Given the description of an element on the screen output the (x, y) to click on. 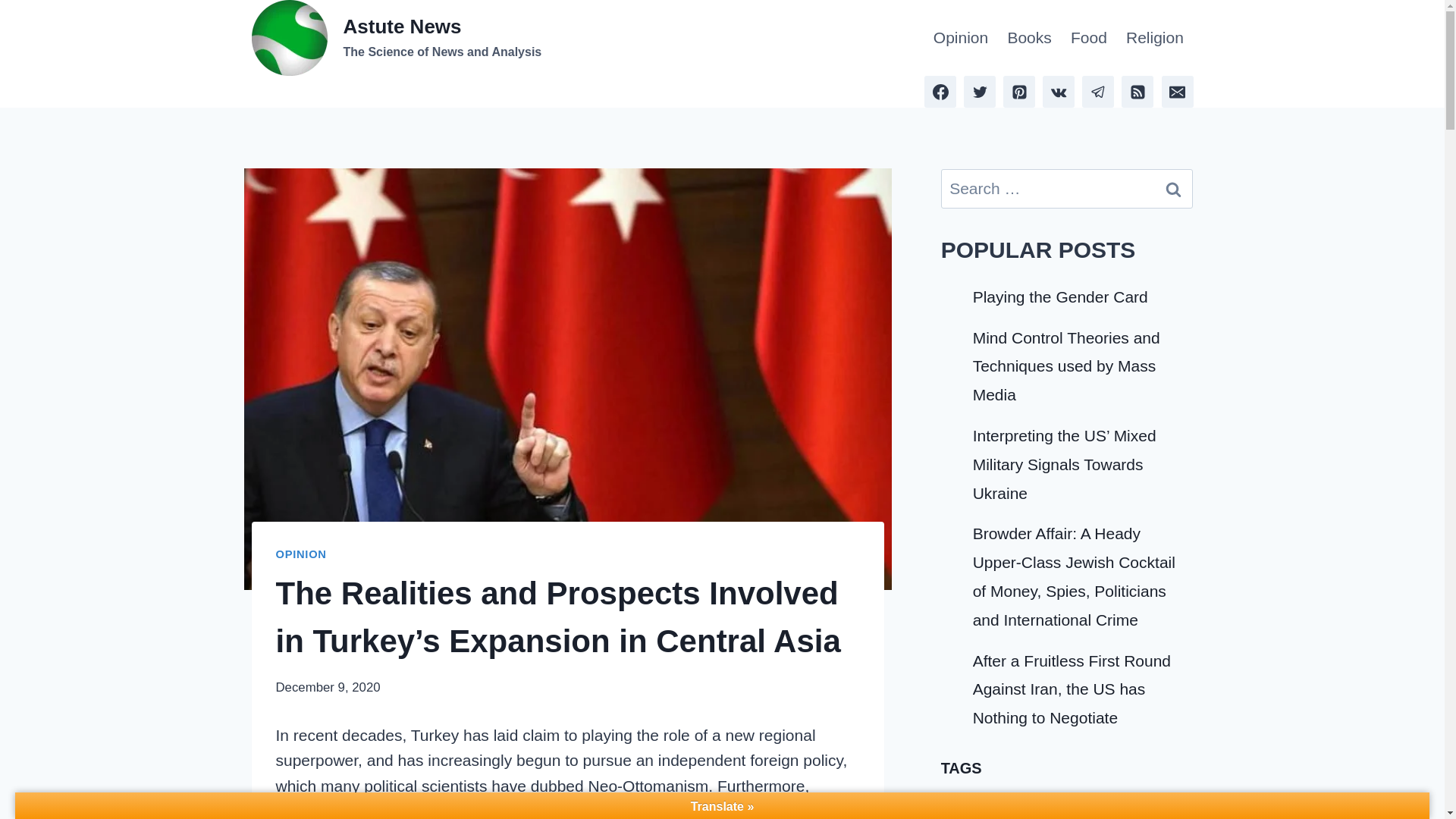
Opinion (396, 38)
Books (960, 37)
Food (1029, 37)
Search (1088, 37)
OPINION (1173, 188)
Religion (301, 553)
Search (1154, 37)
